Given the description of an element on the screen output the (x, y) to click on. 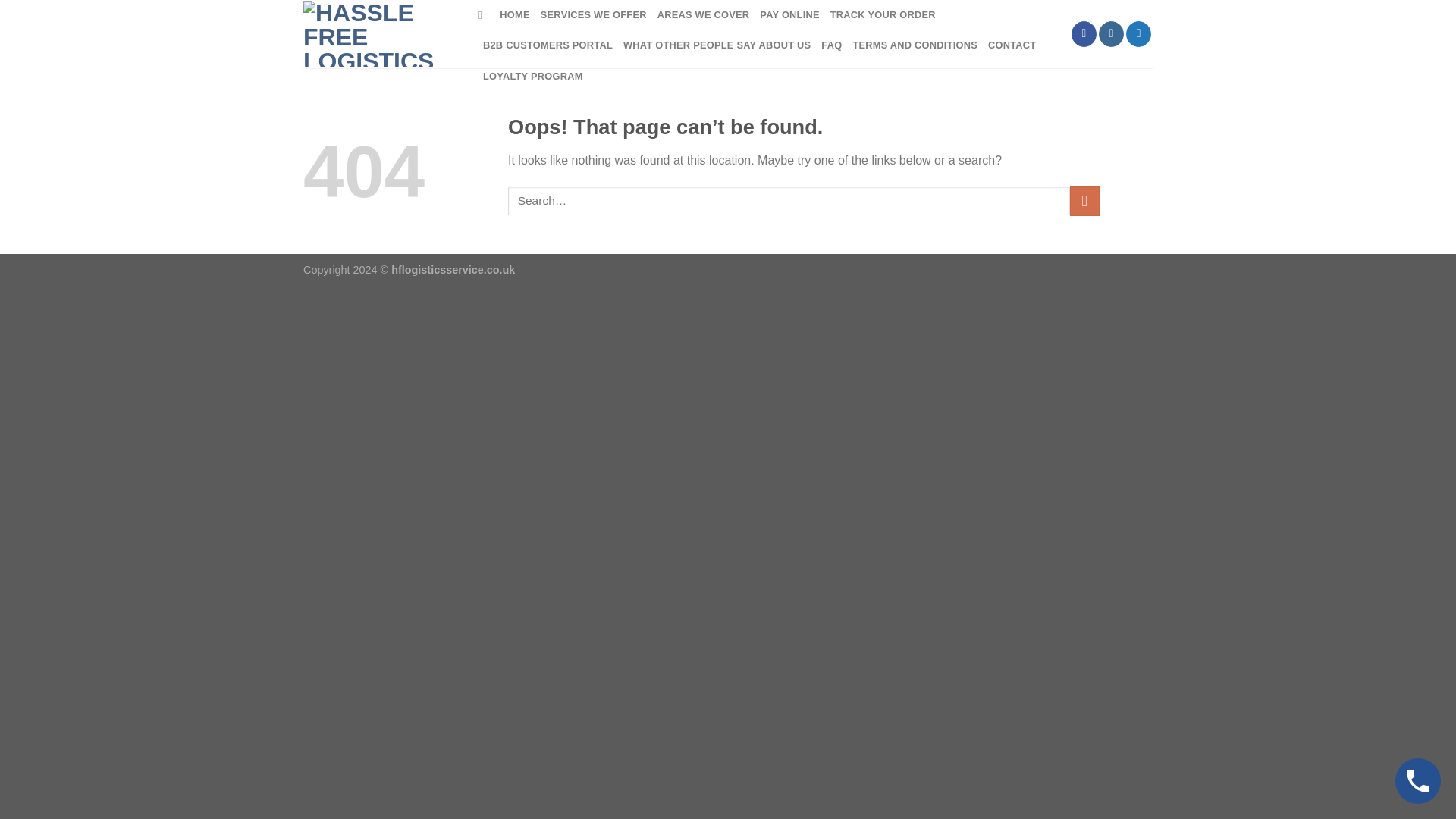
FAQ (831, 45)
AREAS WE COVER (703, 15)
Hassle Free Logistics Service - Logistics Service Free (378, 33)
Follow on Facebook (1083, 33)
CONTACT (1011, 45)
Follow on Instagram (1111, 33)
TERMS AND CONDITIONS (913, 45)
TRACK YOUR ORDER (882, 15)
B2B CUSTOMERS PORTAL (547, 45)
SERVICES WE OFFER (593, 15)
Follow on Twitter (1138, 33)
WHAT OTHER PEOPLE SAY ABOUT US (716, 45)
PAY ONLINE (789, 15)
HOME (514, 15)
LOYALTY PROGRAM (533, 76)
